Given the description of an element on the screen output the (x, y) to click on. 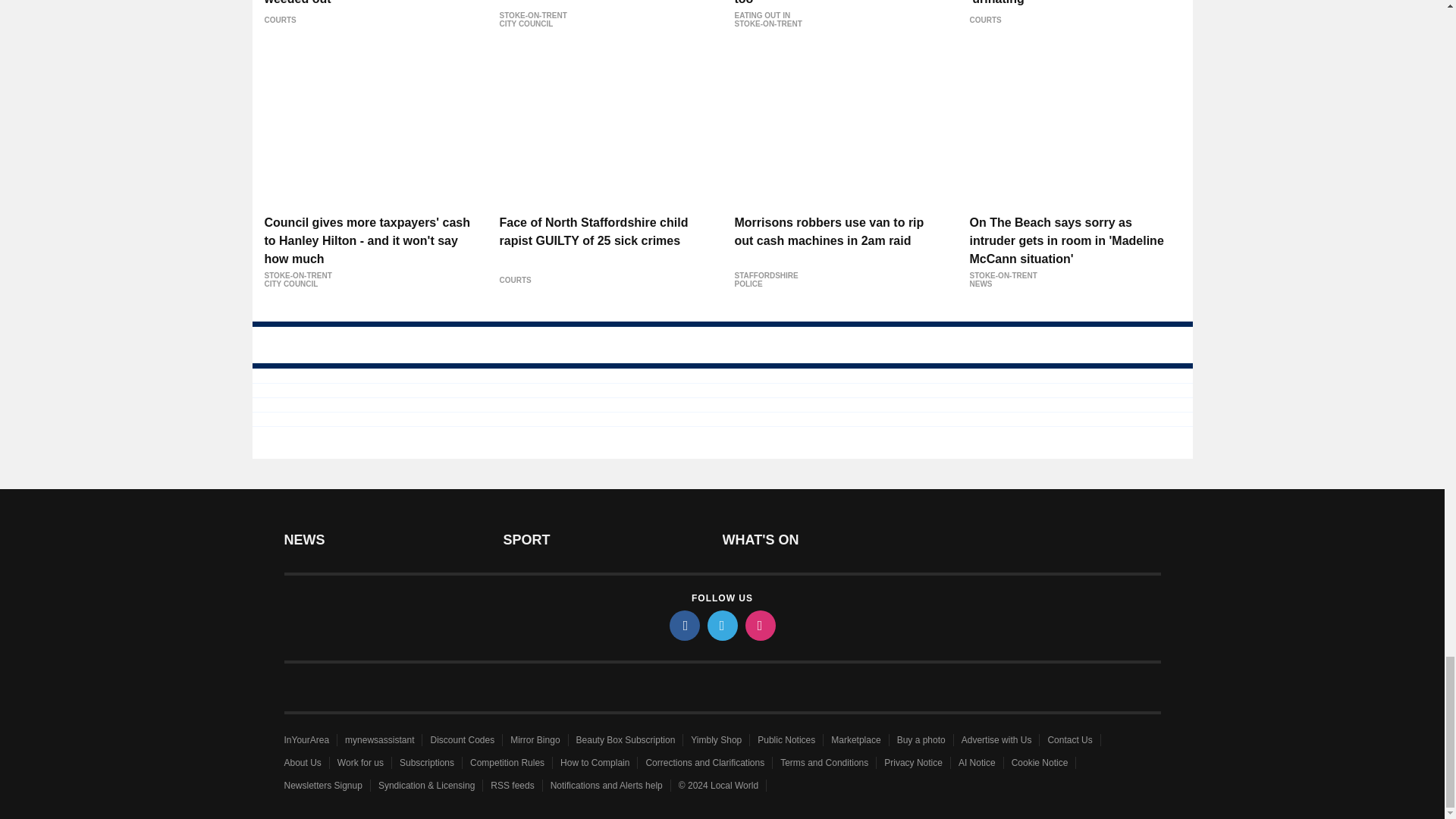
facebook (683, 625)
twitter (721, 625)
instagram (759, 625)
